Given the description of an element on the screen output the (x, y) to click on. 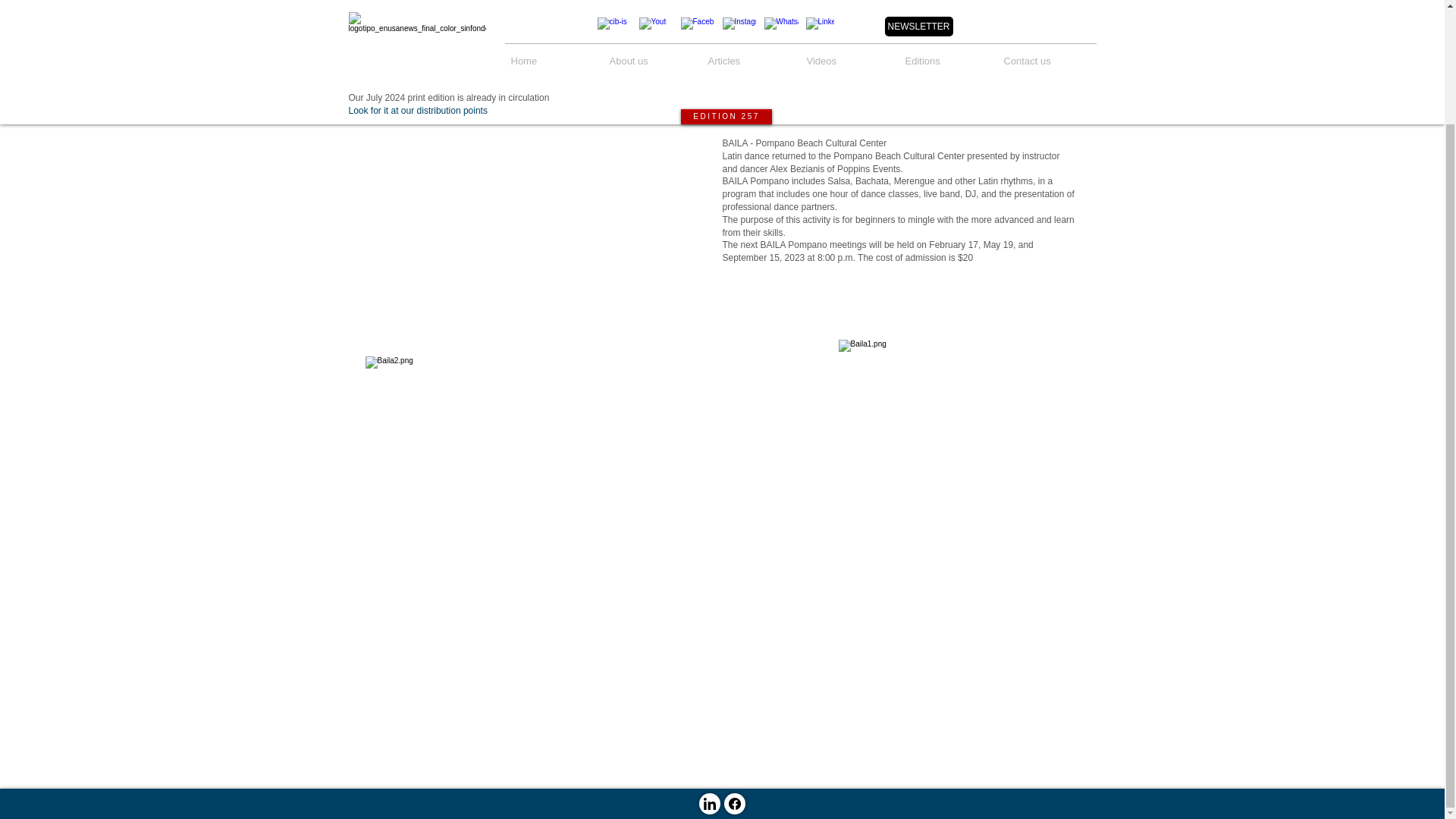
Twitter Tweet (1029, 68)
Share (1030, 41)
Share (1030, 41)
